Given the description of an element on the screen output the (x, y) to click on. 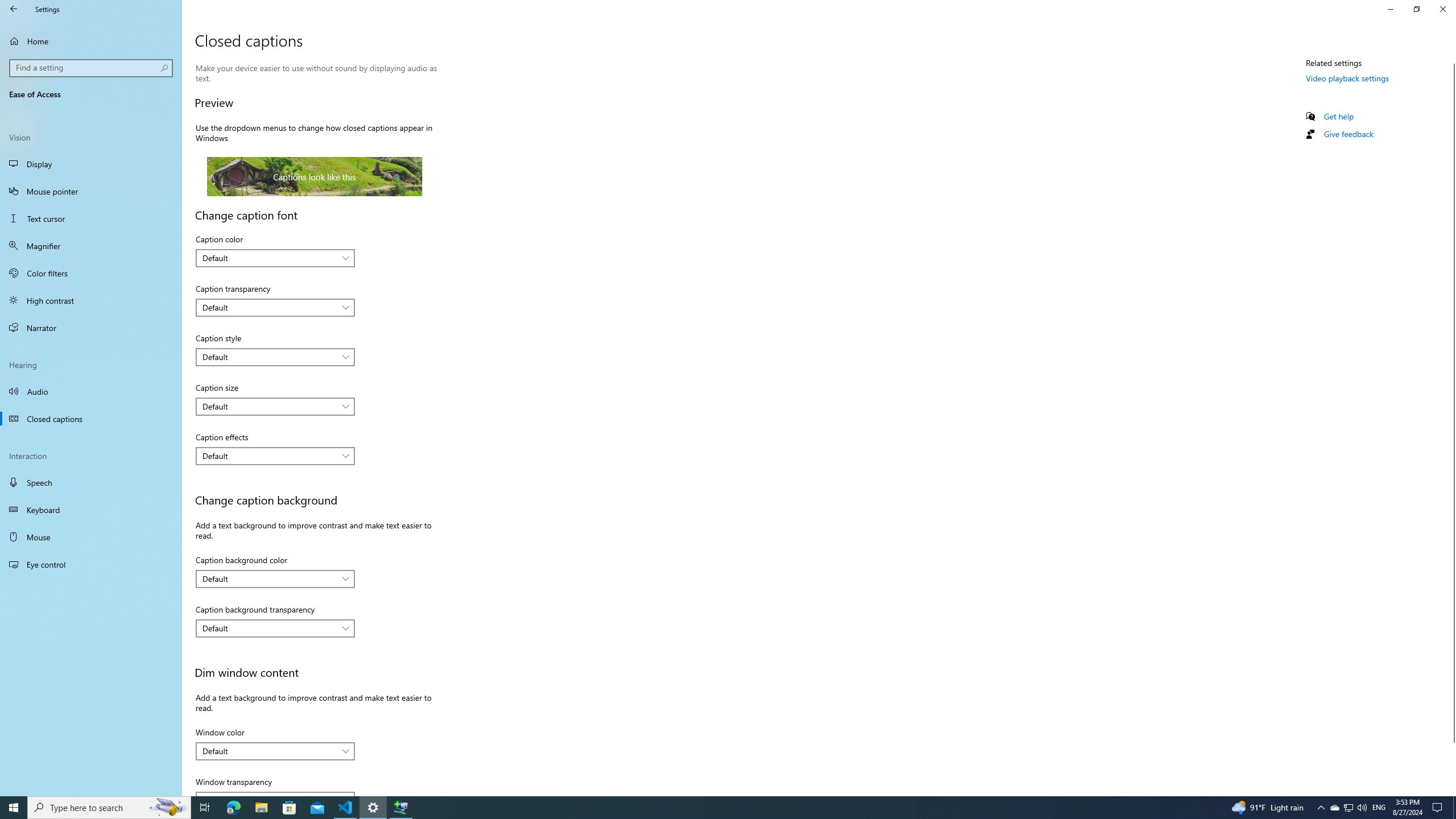
Mouse pointer (91, 190)
Running applications (706, 807)
Window transparency (275, 793)
Speech (91, 482)
Keyboard (91, 509)
High contrast (91, 299)
Magnifier (91, 245)
Closed captions (91, 418)
